Given the description of an element on the screen output the (x, y) to click on. 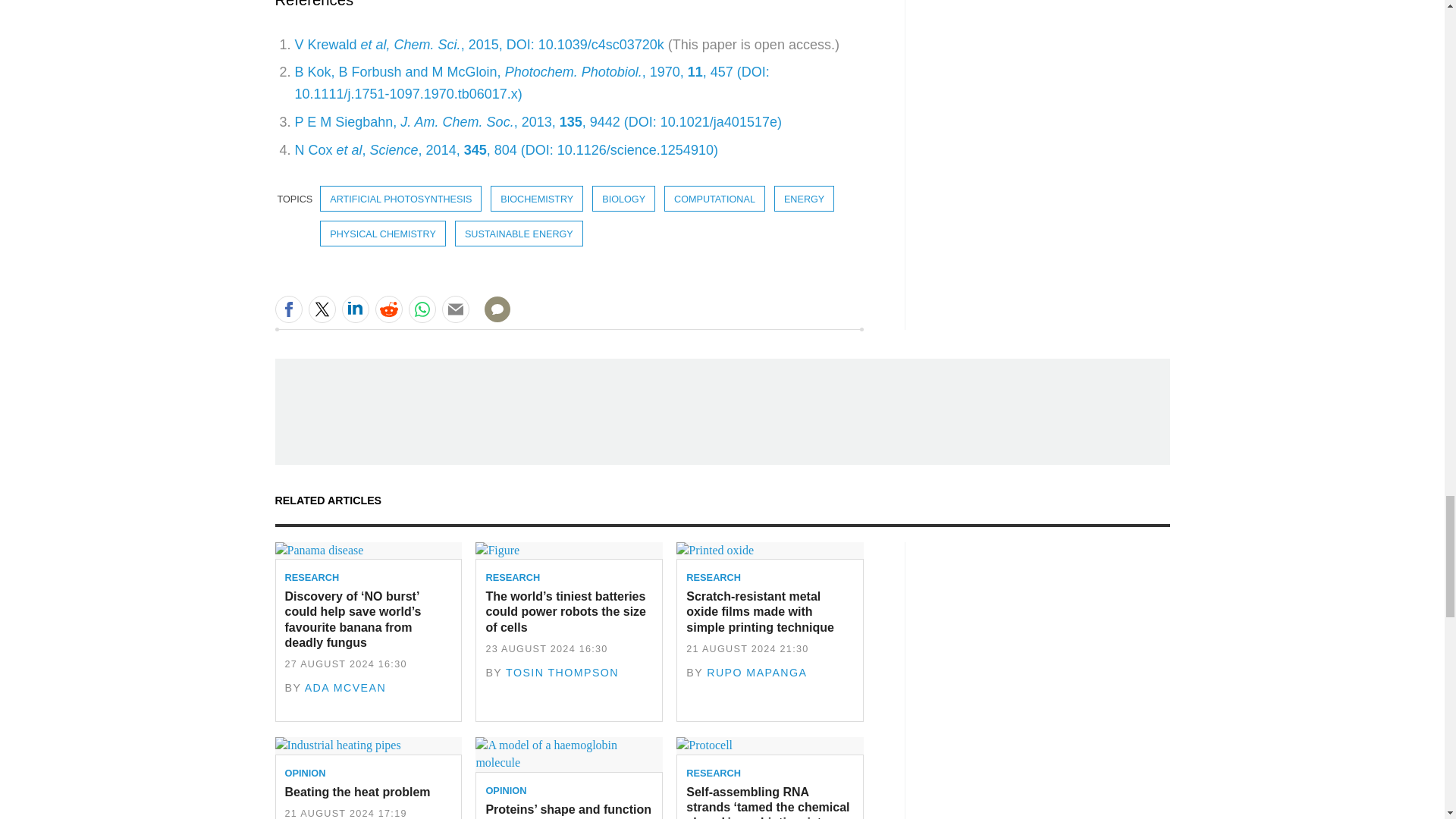
Share this on Reddit (387, 308)
Share this on WhatsApp (421, 308)
Share this on Facebook (288, 308)
Share this on LinkedIn (354, 308)
Share this by email (454, 308)
NO COMMENTS (492, 318)
